Given the description of an element on the screen output the (x, y) to click on. 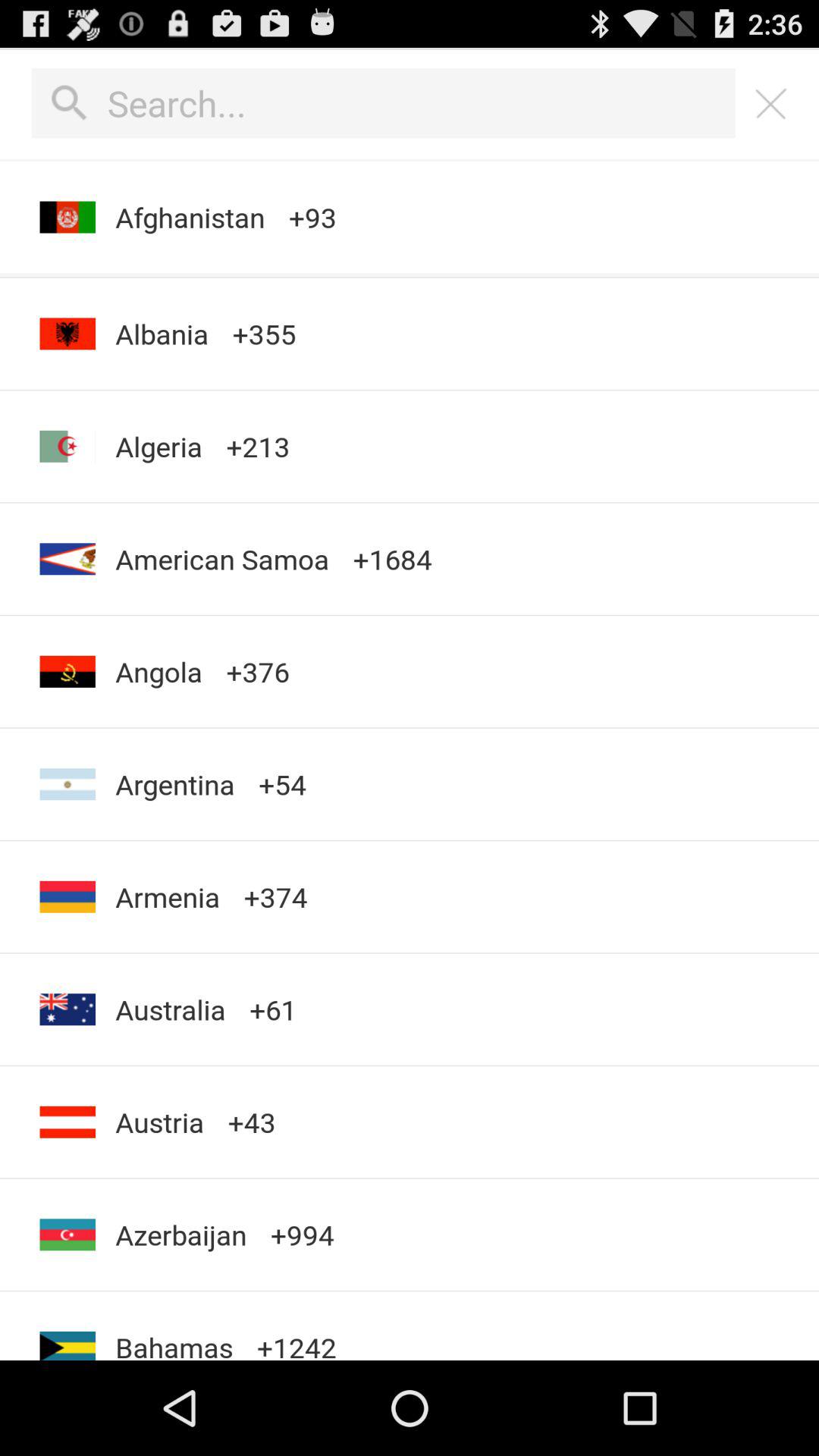
go do coulesd (771, 103)
